Given the description of an element on the screen output the (x, y) to click on. 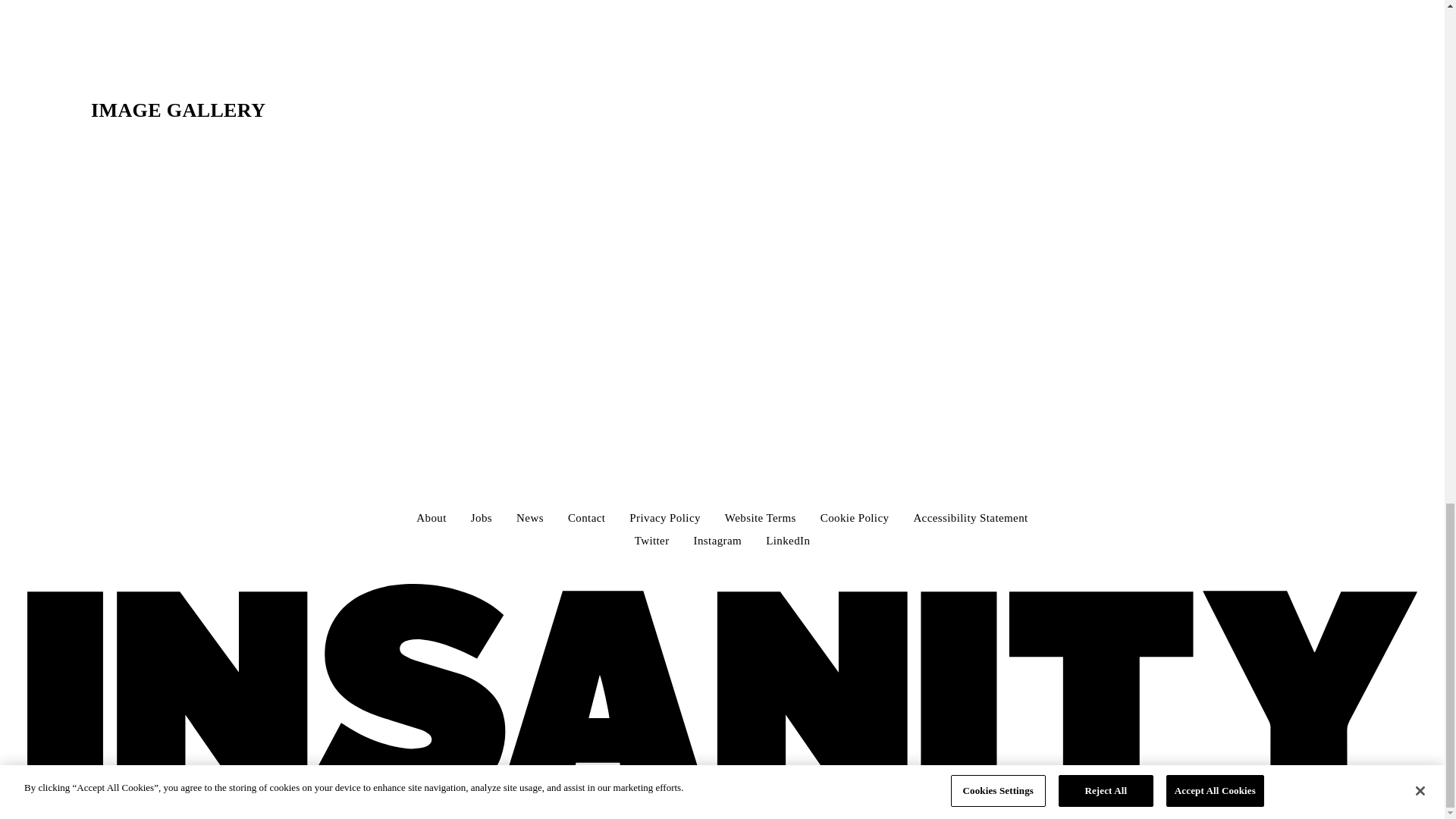
Instagram (718, 540)
Cookie Policy (855, 517)
About (431, 517)
News (529, 517)
Accessibility Statement (969, 517)
Contact (586, 517)
Twitter (651, 540)
Website Terms (760, 517)
Privacy Policy (664, 517)
Jobs (481, 517)
LinkedIn (787, 540)
